Given the description of an element on the screen output the (x, y) to click on. 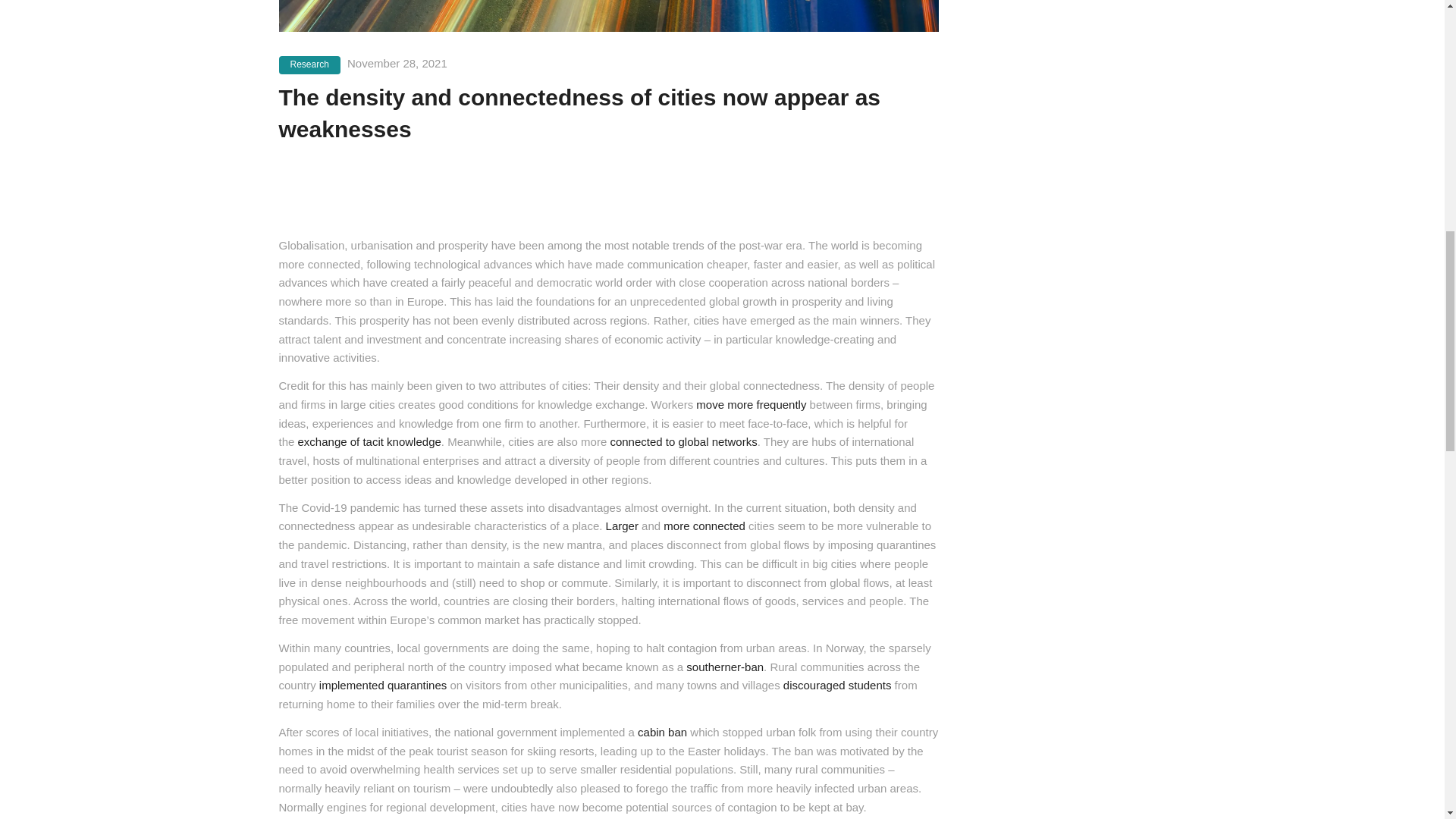
Research (309, 65)
more connected (704, 525)
exchange of tacit knowledge (369, 440)
implemented quarantines (382, 684)
Larger (622, 525)
move more frequently (750, 404)
November 28, 2021 (396, 62)
connected to global networks (683, 440)
cabin ban (662, 731)
discouraged students (837, 684)
southerner-ban (723, 666)
